Given the description of an element on the screen output the (x, y) to click on. 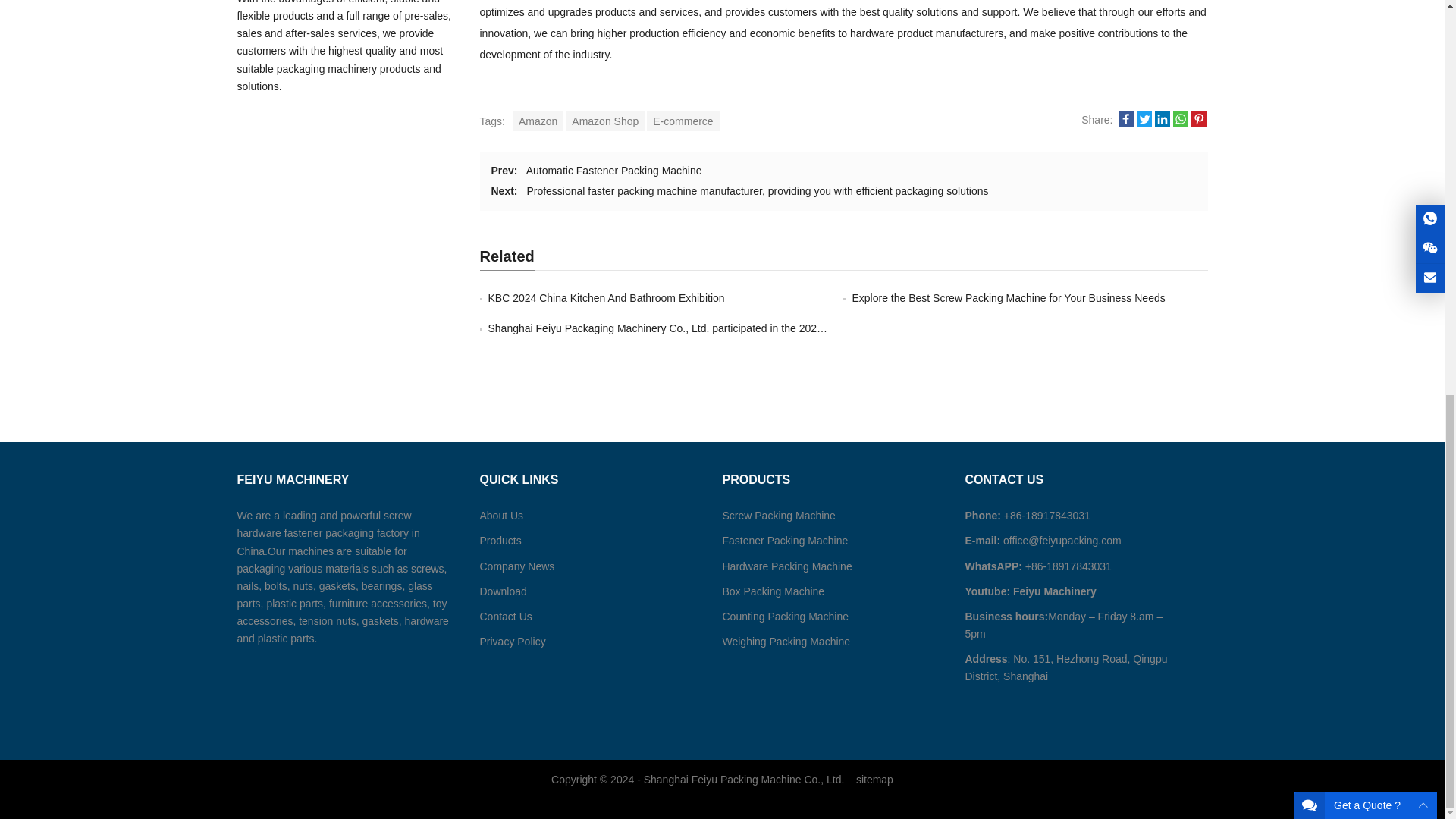
Amazon Shop (605, 121)
WhatsApp (1179, 122)
Share on LinkedIn (1161, 122)
Share on Twitter (1143, 122)
LinkedIn (1161, 118)
Pinterest (1198, 122)
Twitter (1143, 118)
E-commerce (682, 121)
Pinterest (1198, 118)
Facebook (1125, 122)
Share on Pinterest (1198, 122)
LinkedIn (1161, 122)
Amazon (537, 121)
Automatic Fastener Packing Machine (613, 170)
